Given the description of an element on the screen output the (x, y) to click on. 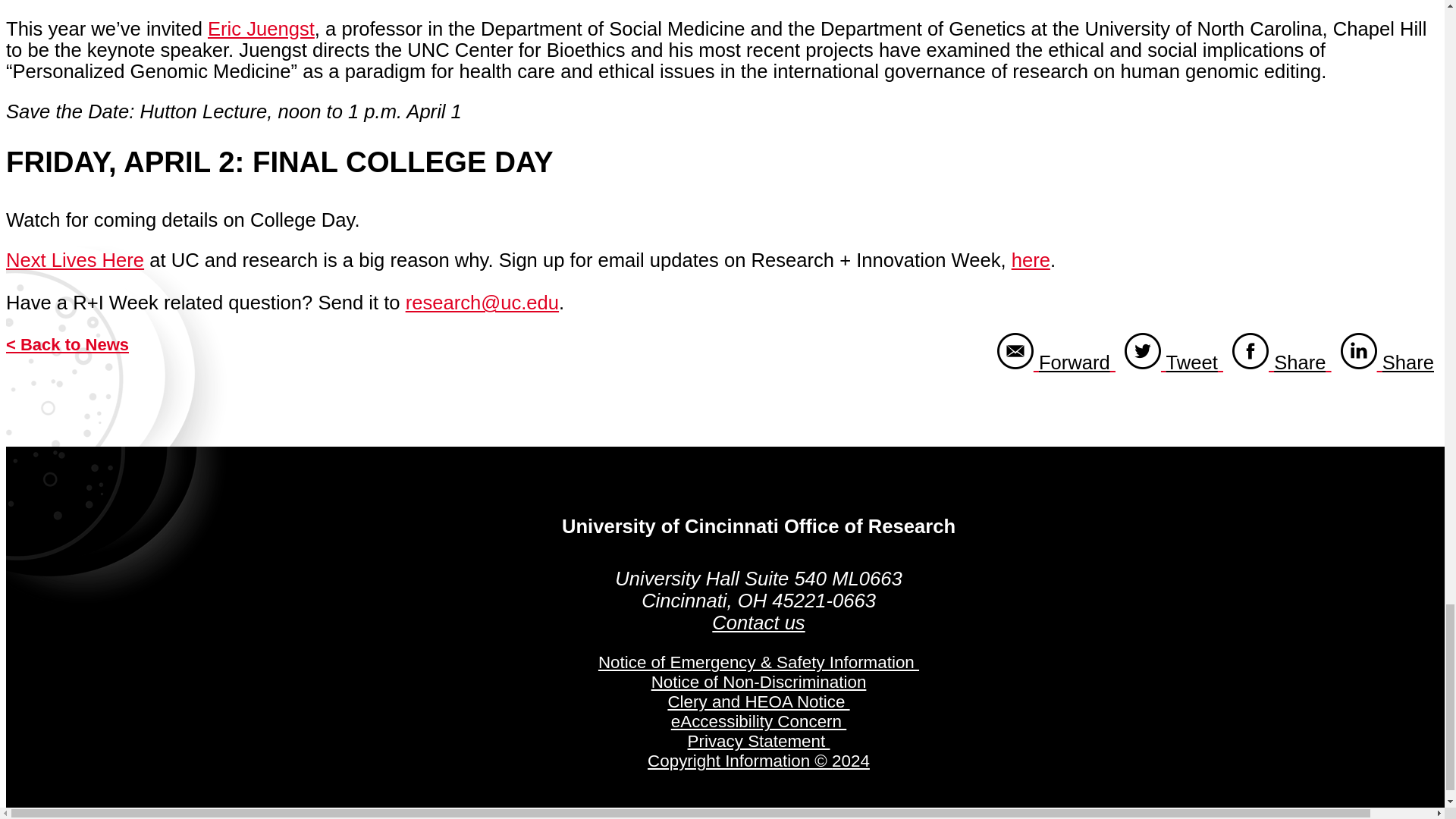
share via facebook (1281, 362)
tweet via twitter (1173, 362)
share via linkedin (1387, 362)
forward via email (1055, 362)
Forward (1055, 362)
here (1030, 260)
Tweet (1173, 362)
Eric Juengst (1387, 362)
Next Lives Here (261, 28)
